Given the description of an element on the screen output the (x, y) to click on. 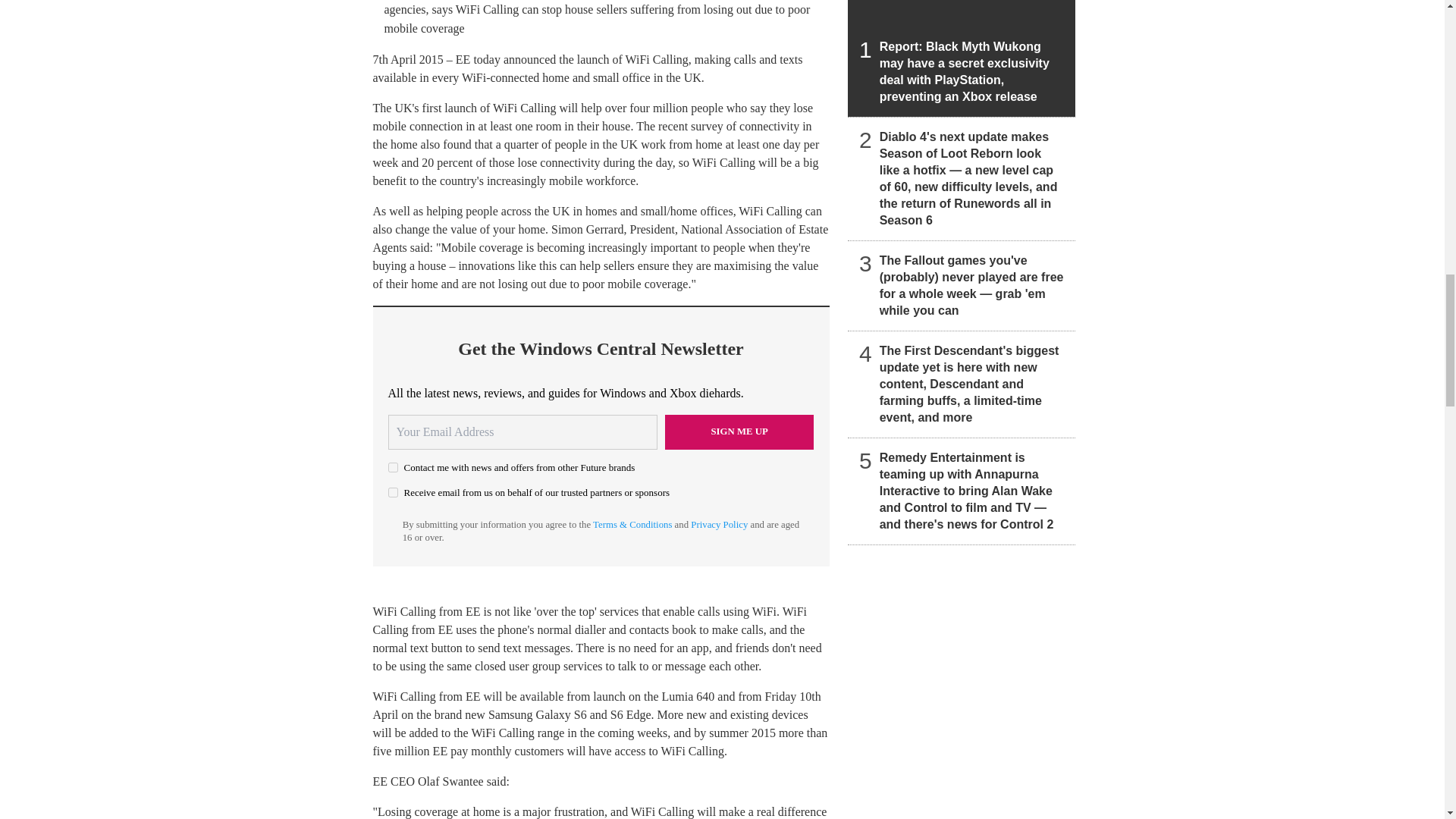
Sign me up (739, 431)
on (392, 492)
on (392, 467)
Sign me up (739, 431)
Privacy Policy (719, 524)
